Given the description of an element on the screen output the (x, y) to click on. 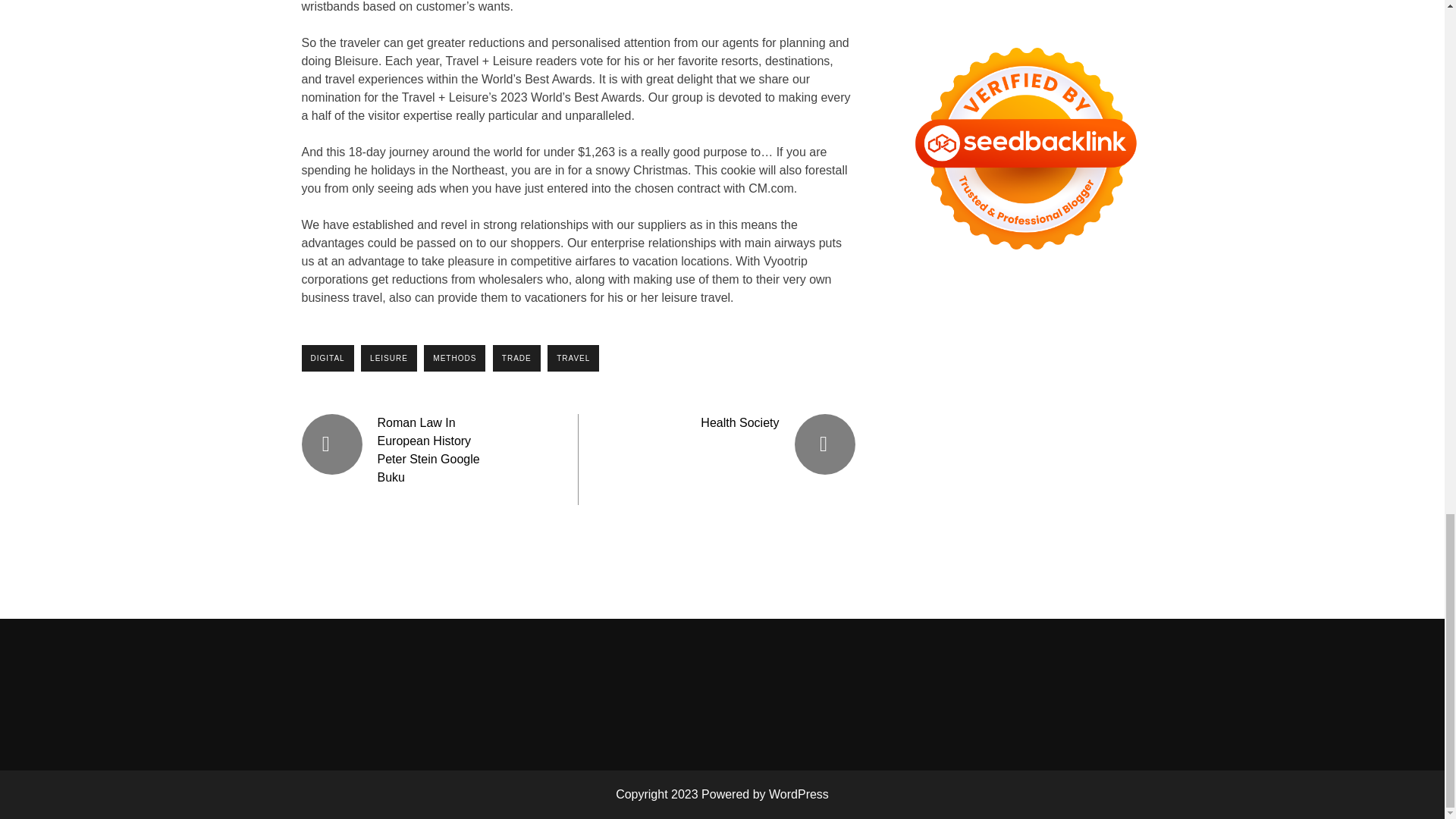
Health Society (739, 422)
TRADE (516, 357)
DIGITAL (327, 357)
Seedbacklink (1025, 148)
TRAVEL (572, 357)
METHODS (453, 357)
Roman Law In European History Peter Stein Google Buku (428, 450)
LEISURE (388, 357)
